Given the description of an element on the screen output the (x, y) to click on. 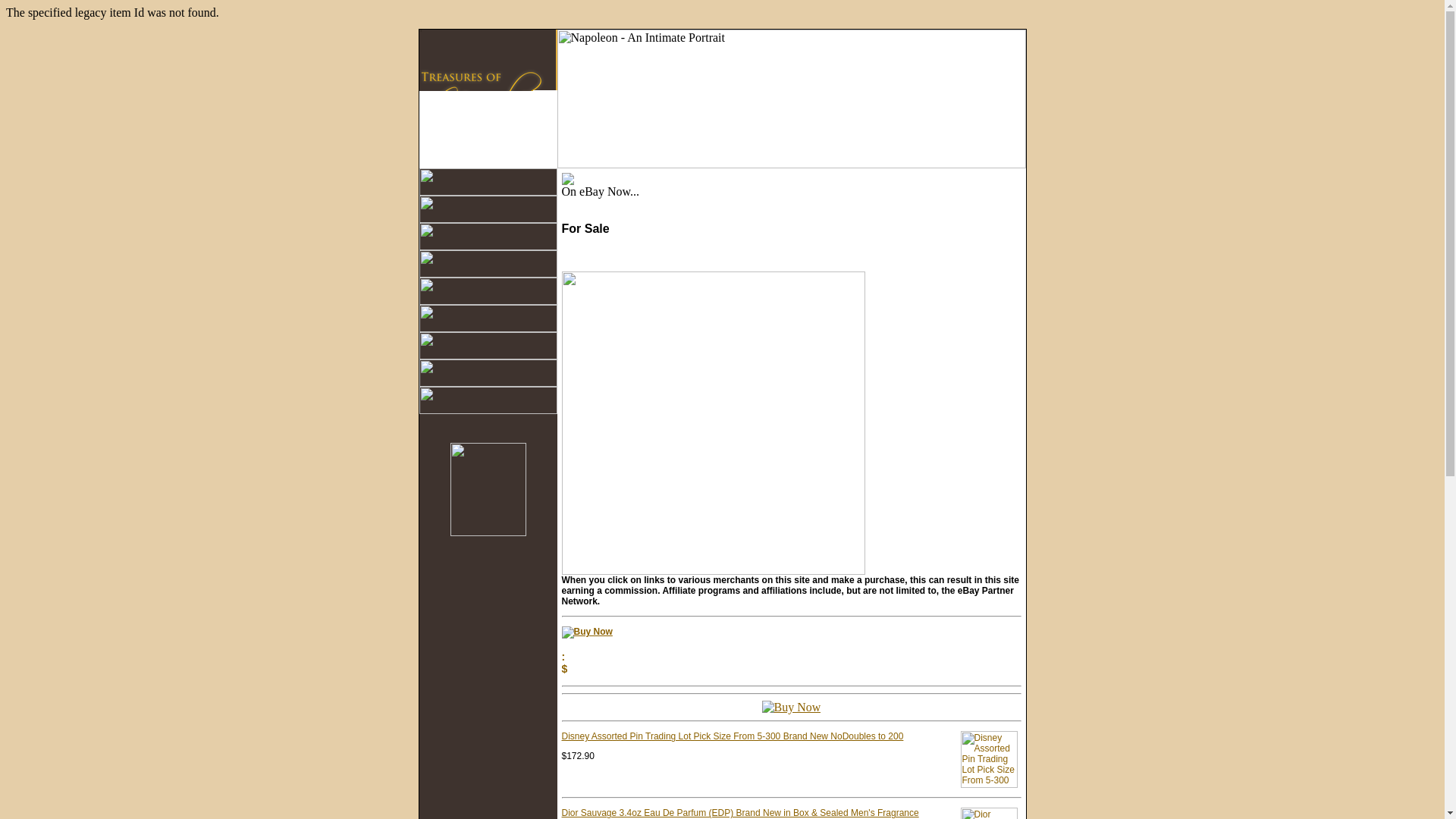
Buy Now (585, 632)
Buy Now (791, 707)
